Given the description of an element on the screen output the (x, y) to click on. 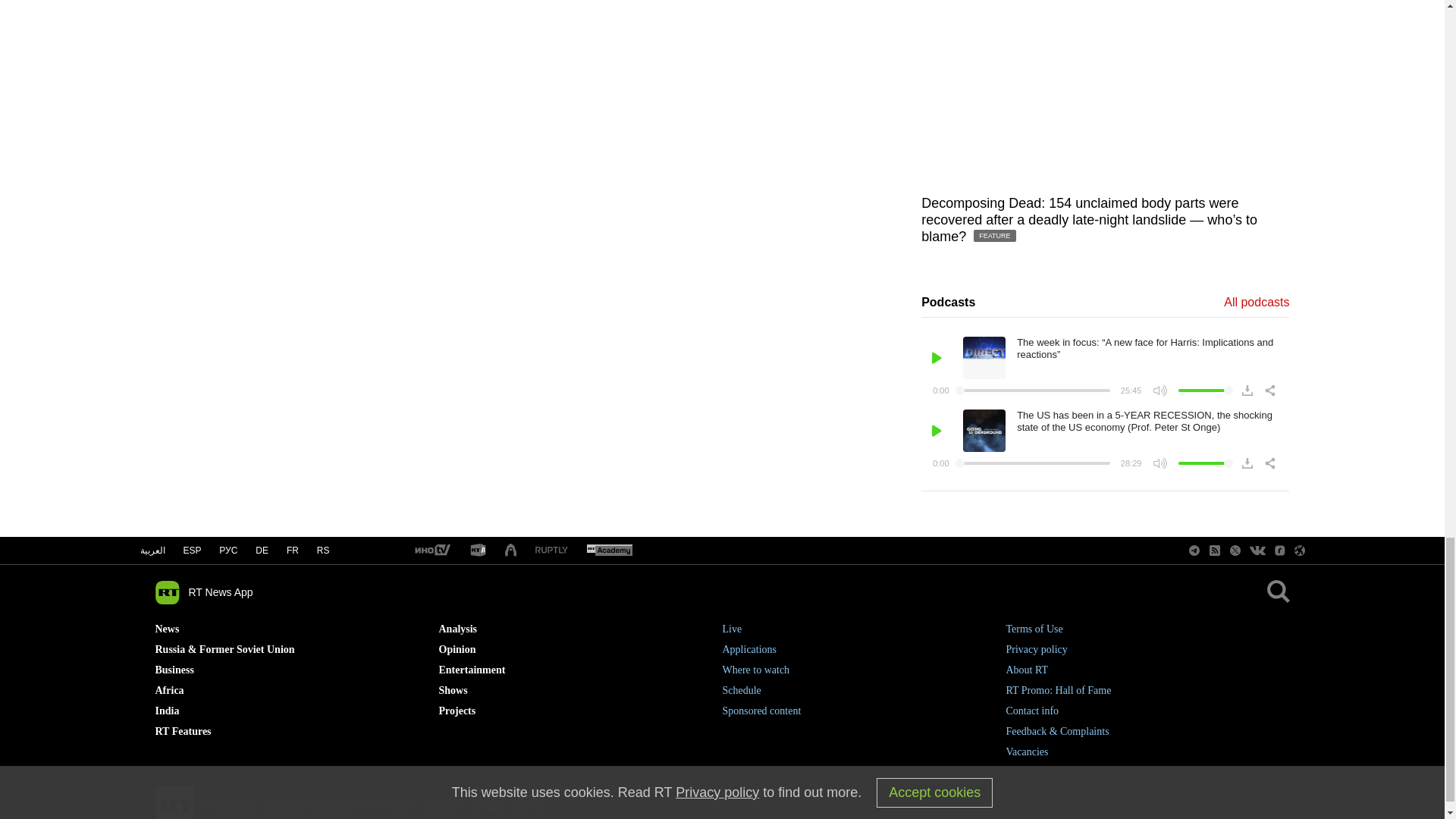
RT  (608, 550)
RT  (551, 551)
RT  (478, 550)
RT  (431, 550)
